Given the description of an element on the screen output the (x, y) to click on. 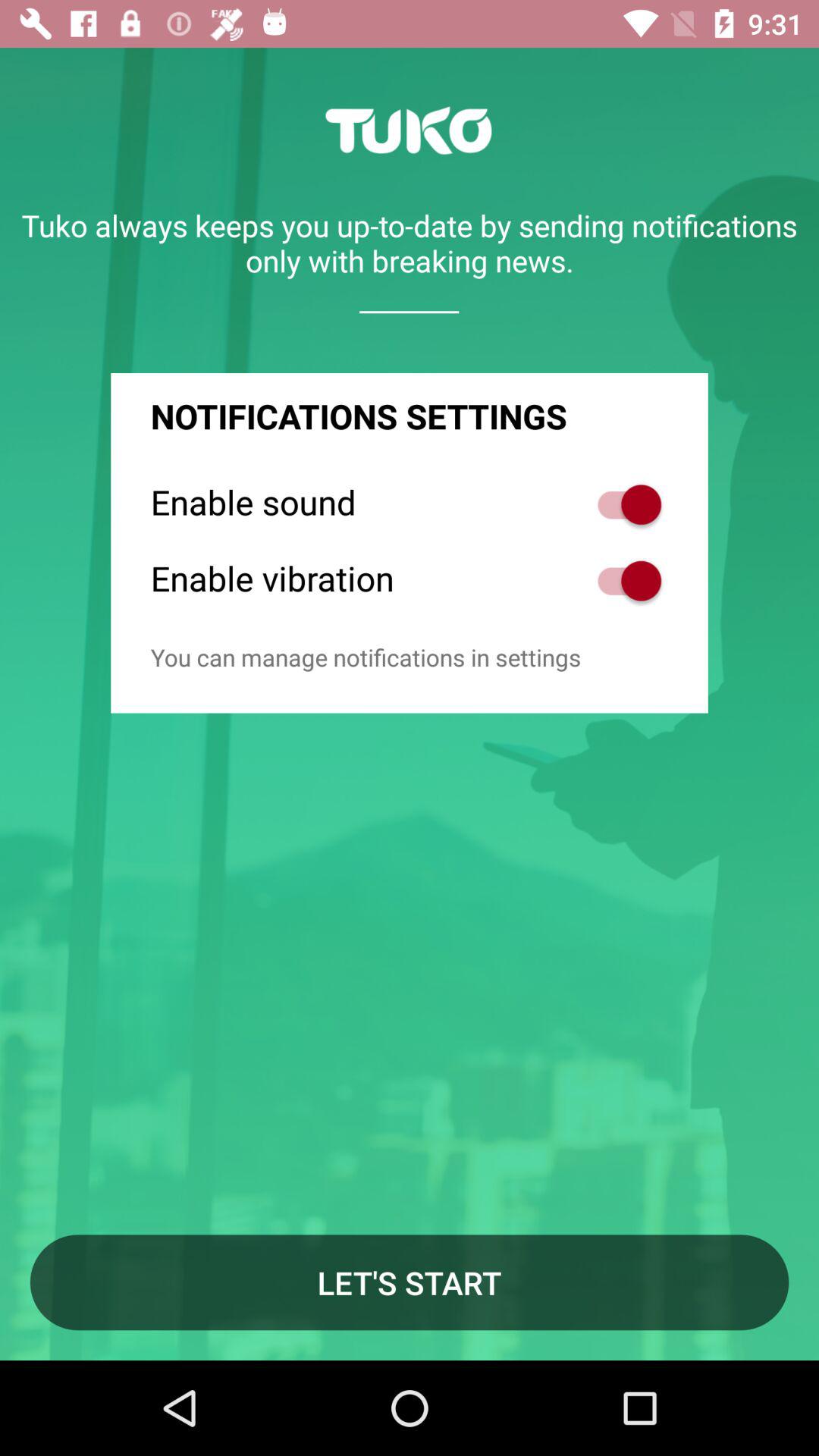
toggle sound option (621, 504)
